Given the description of an element on the screen output the (x, y) to click on. 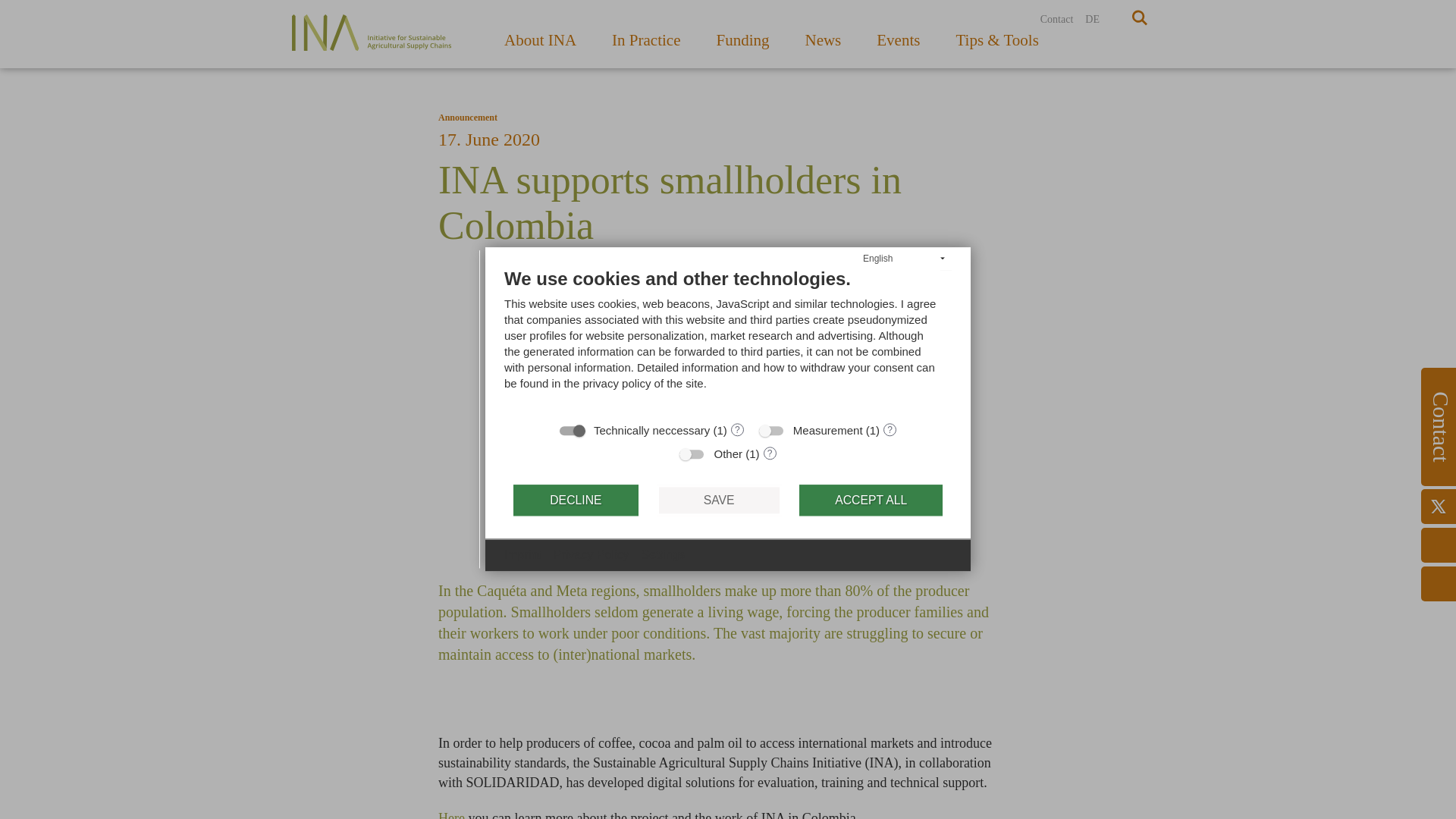
Kontakt (1057, 19)
Contact (1057, 19)
DE (1091, 19)
About INA (539, 43)
About INA (539, 43)
In Practice (646, 43)
In Practice (646, 43)
